Given the description of an element on the screen output the (x, y) to click on. 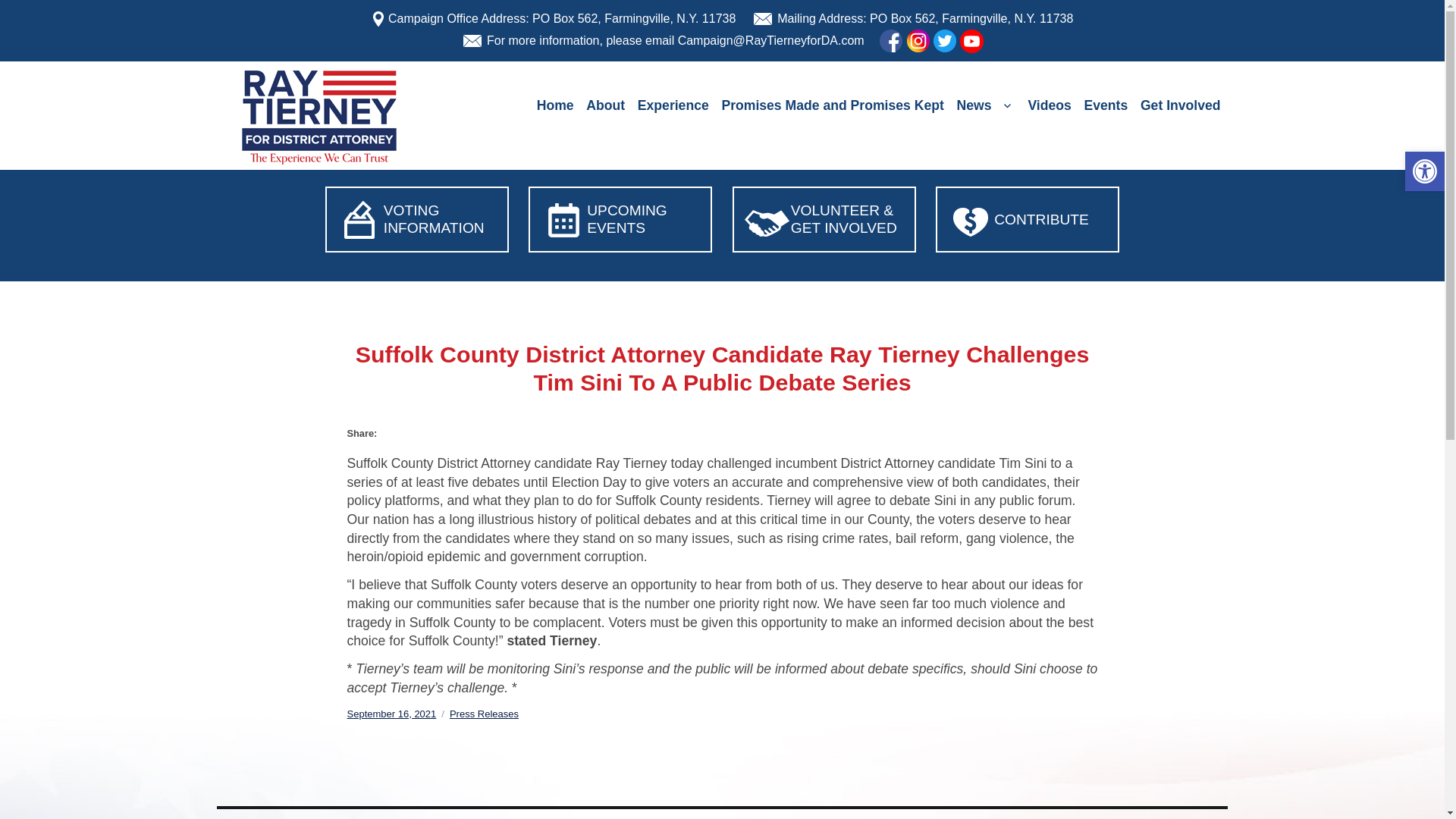
UPCOMING EVENTS (626, 218)
Events (1105, 105)
Press Releases (483, 713)
CONTRIBUTE (1041, 219)
Videos (1049, 105)
News (986, 105)
Home (554, 105)
Get Involved (1180, 105)
September 16, 2021 (391, 713)
Promises Made and Promises Kept (832, 105)
VOTING INFORMATION (434, 218)
About (605, 105)
Experience (672, 105)
Accessibility Tools (1424, 170)
